Given the description of an element on the screen output the (x, y) to click on. 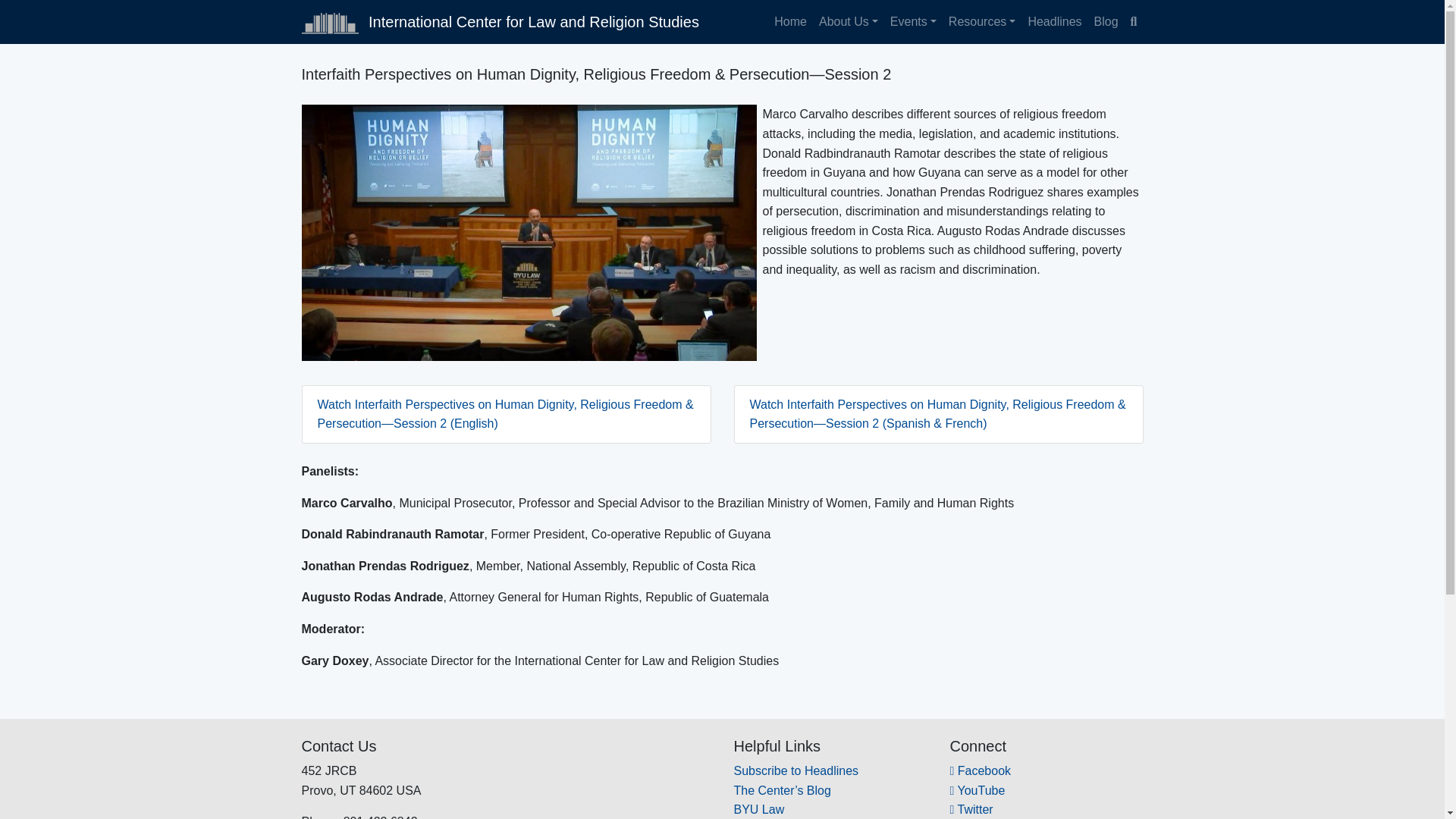
Blog (1105, 21)
Resources (982, 21)
Home (790, 21)
International Center for Law and Religion Studies (499, 21)
About Us (847, 21)
Events (912, 21)
Home (790, 21)
Headlines (1054, 21)
Twitter (970, 809)
Events (912, 21)
BYU Law (758, 809)
Subscribe to Headlines (796, 770)
About Us (847, 21)
Resources (982, 21)
Facebook (979, 770)
